Given the description of an element on the screen output the (x, y) to click on. 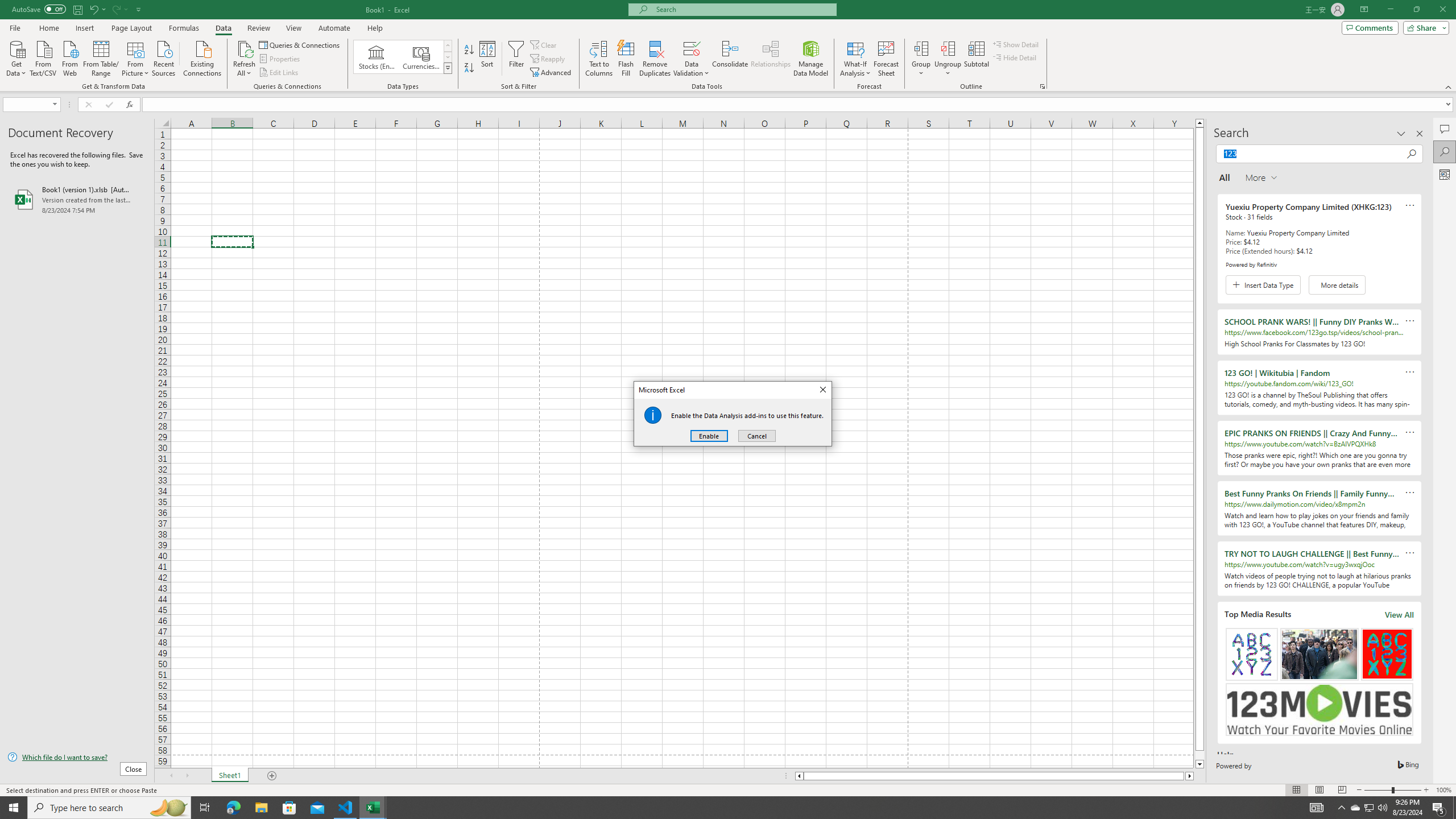
Visual Studio Code - 1 running window (345, 807)
User Promoted Notification Area (1368, 807)
Class: Static (652, 415)
